Given the description of an element on the screen output the (x, y) to click on. 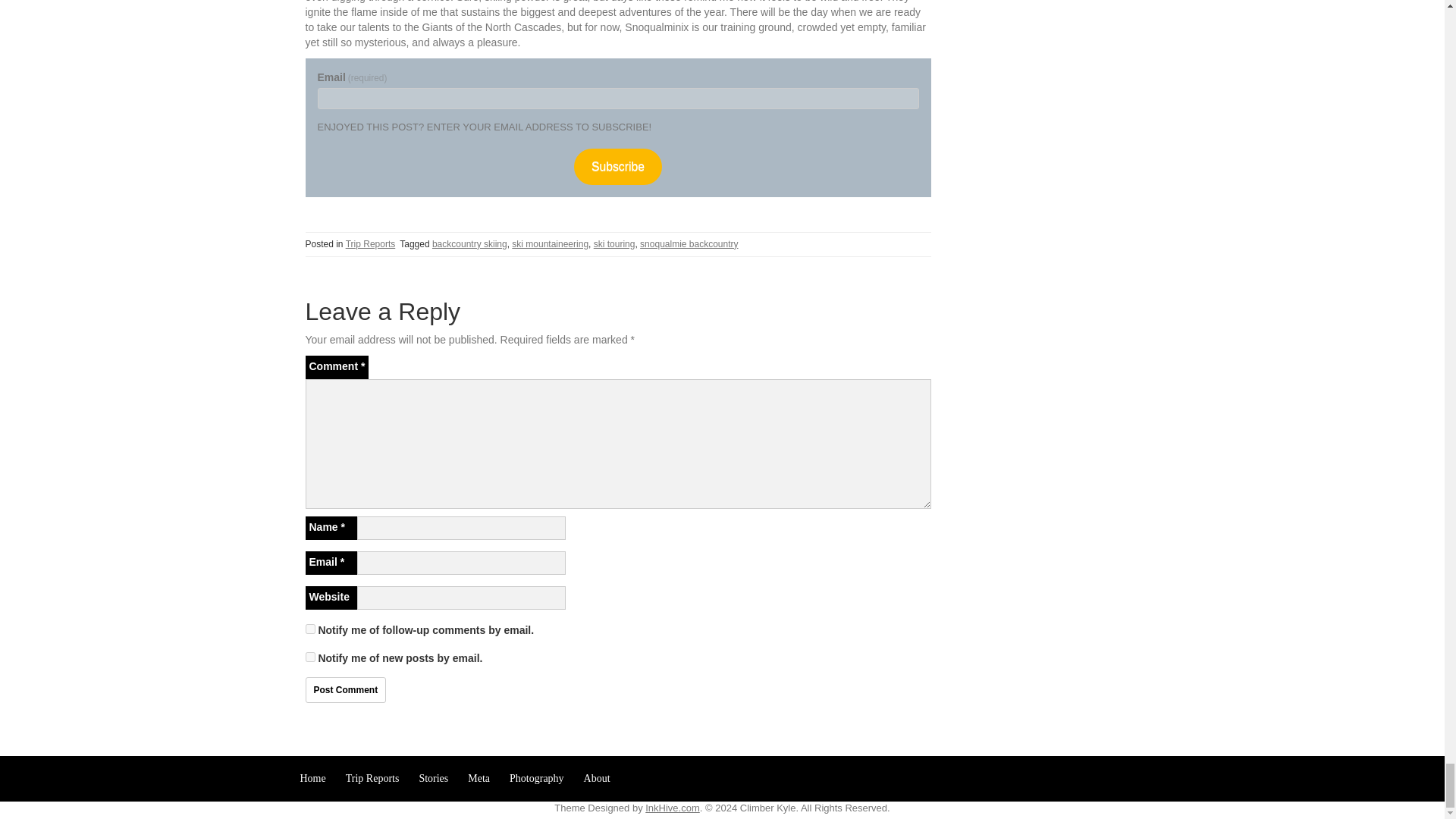
ski mountaineering (550, 244)
ski touring (614, 244)
backcountry skiing (469, 244)
Trip Reports (371, 244)
snoqualmie backcountry (689, 244)
subscribe (309, 656)
subscribe (309, 628)
Subscribe (617, 166)
Post Comment (344, 689)
Post Comment (344, 689)
